Given the description of an element on the screen output the (x, y) to click on. 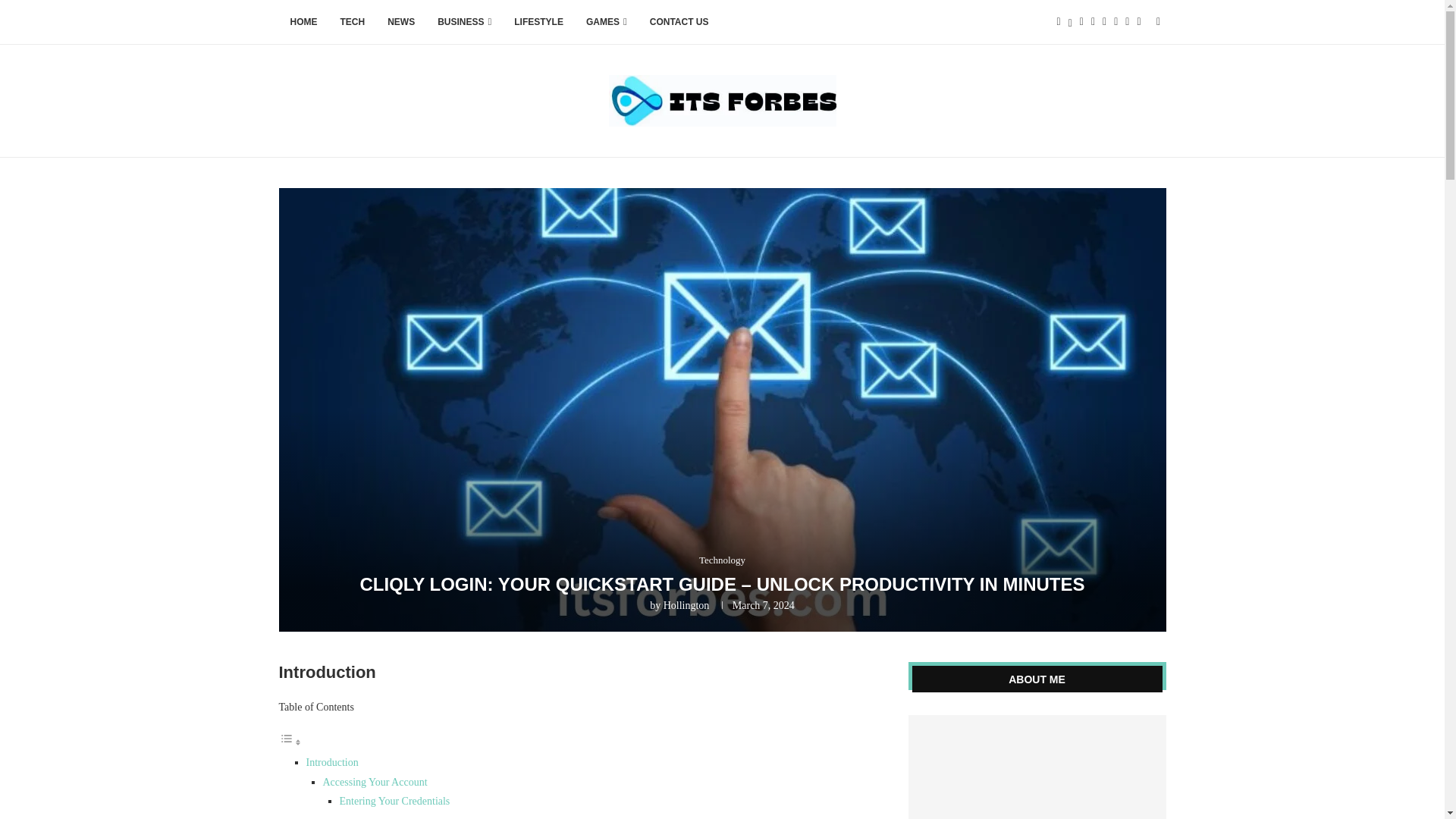
Entering Your Credentials (394, 800)
Accessing Your Account (375, 781)
Entering Your Credentials (394, 800)
Accessing Your Account (375, 781)
Introduction (331, 762)
NEWS (400, 22)
BUSINESS (464, 22)
CONTACT US (679, 22)
Technology (721, 560)
